Given the description of an element on the screen output the (x, y) to click on. 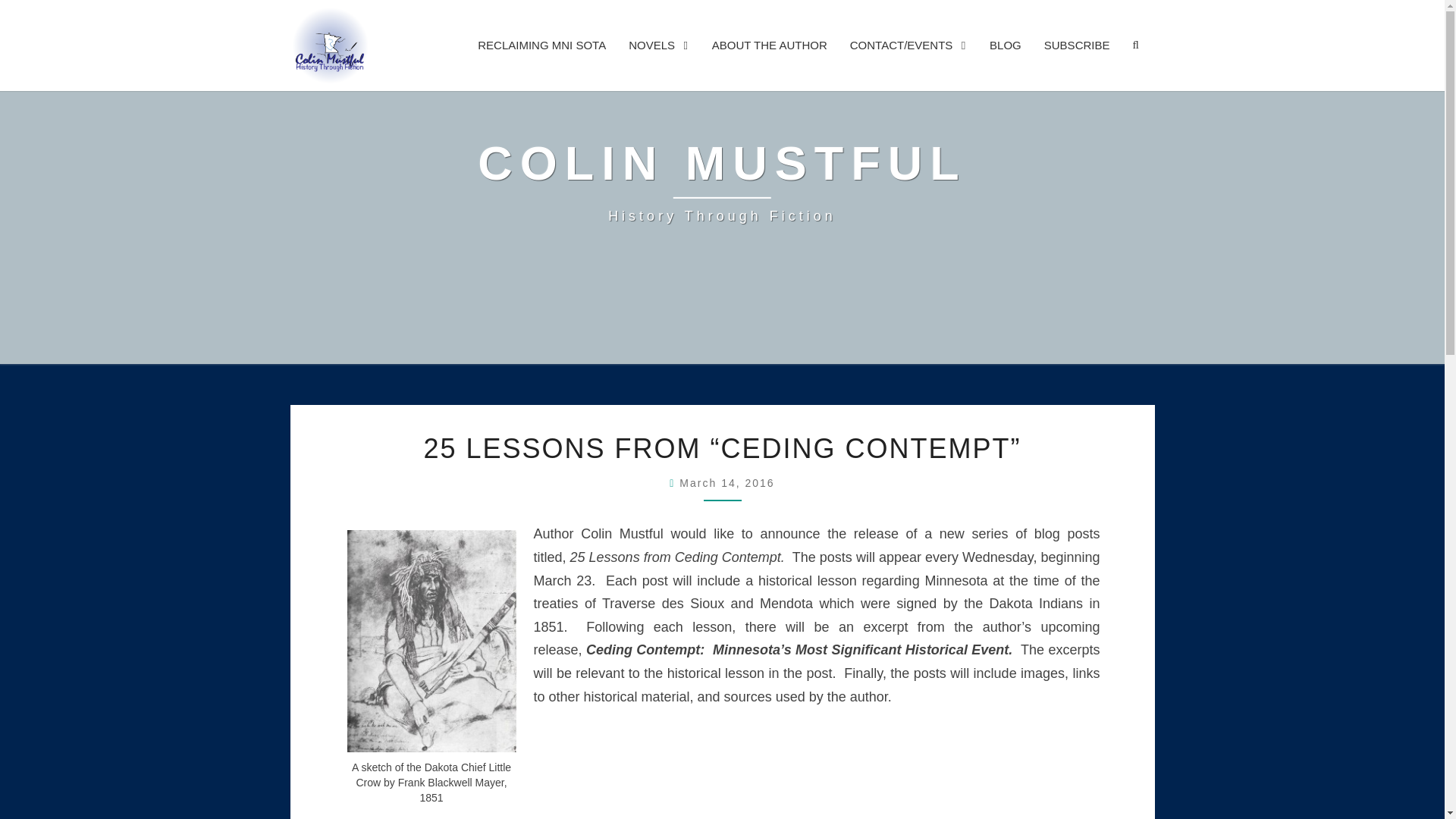
RECLAIMING MNI SOTA (541, 44)
NOVELS (658, 44)
Colin Mustful (721, 181)
SUBSCRIBE (1076, 44)
BLOG (721, 181)
March 14, 2016 (1005, 44)
1:44 pm (726, 482)
ABOUT THE AUTHOR (726, 482)
